Given the description of an element on the screen output the (x, y) to click on. 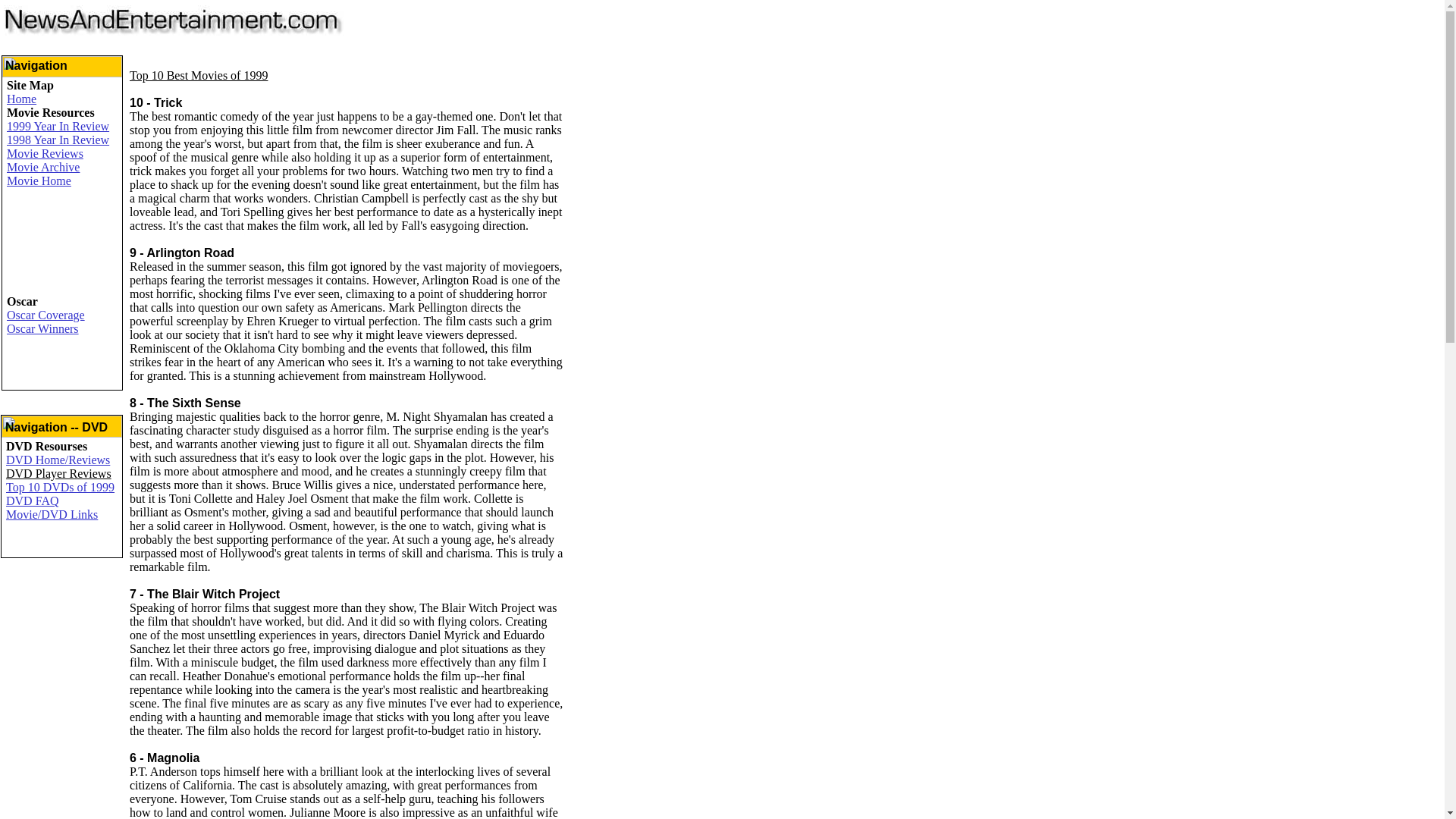
Movie Reviews (44, 153)
Home (21, 98)
1998 Year In Review (58, 139)
1999 Year In Review (58, 125)
Movie Archive (43, 166)
Top 10 DVDs of 1999 (60, 486)
Oscar Winners (42, 328)
Oscar Coverage (45, 314)
DVD FAQ (31, 500)
Movie Home (39, 180)
